Given the description of an element on the screen output the (x, y) to click on. 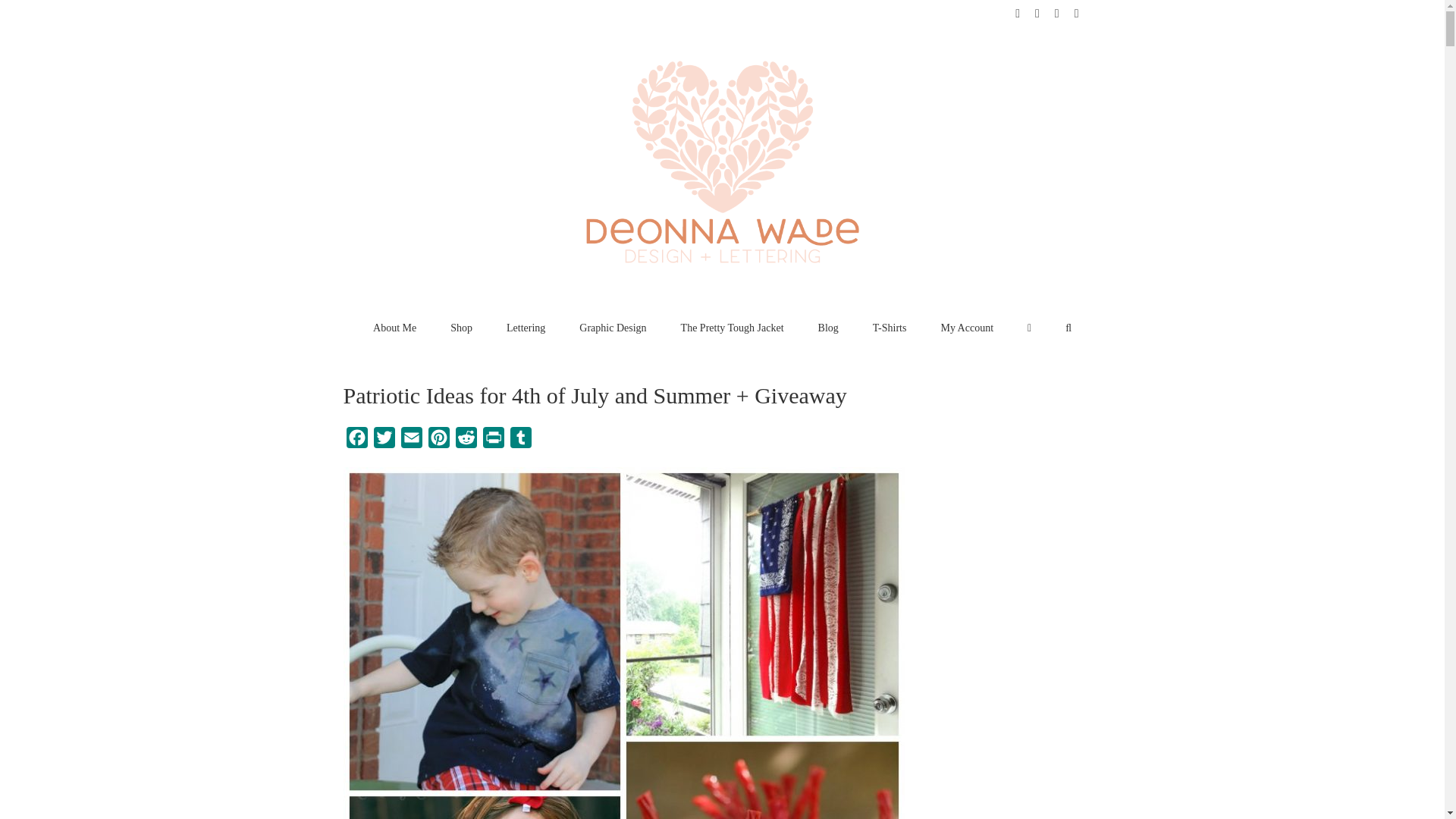
Lettering (525, 327)
Print (492, 440)
Facebook (355, 440)
Log In (1035, 463)
The Pretty Tough Jacket (732, 327)
My Account (966, 327)
Pinterest (438, 440)
About Me (394, 327)
Tumblr (520, 440)
T-Shirts (889, 327)
Twitter (383, 440)
Pinterest (438, 440)
Email (411, 440)
Reddit (465, 440)
Email (411, 440)
